Given the description of an element on the screen output the (x, y) to click on. 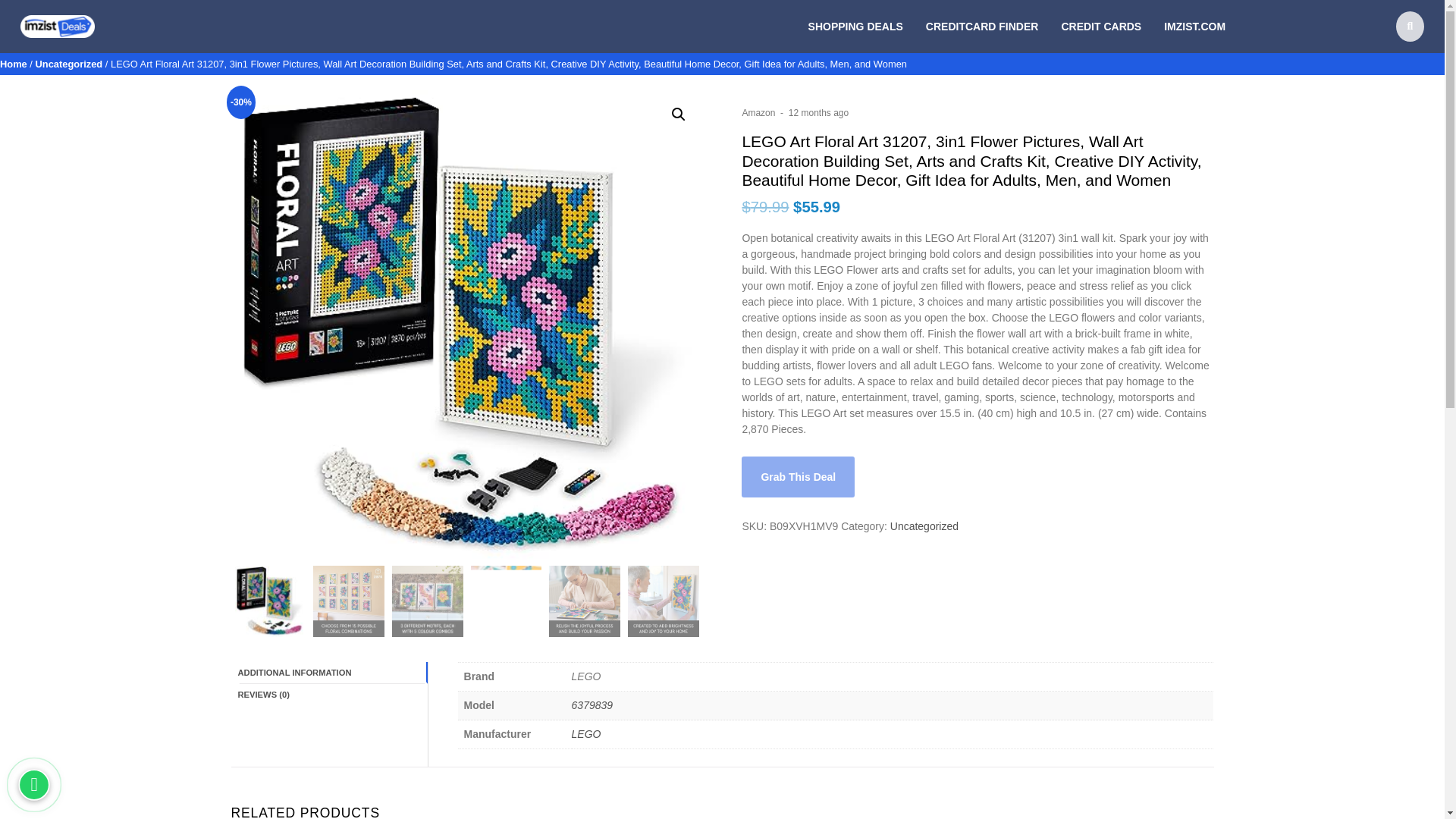
Grab This Deal (797, 476)
Home (13, 63)
ADDITIONAL INFORMATION (332, 672)
imzistdeals (46, 45)
Uncategorized (923, 526)
Uncategorized (68, 63)
LEGO (586, 734)
CREDIT CARDS (1101, 26)
IMZIST.COM (1194, 26)
SHOPPING DEALS (855, 26)
CREDITCARD FINDER (982, 26)
6379839 (592, 705)
